Given the description of an element on the screen output the (x, y) to click on. 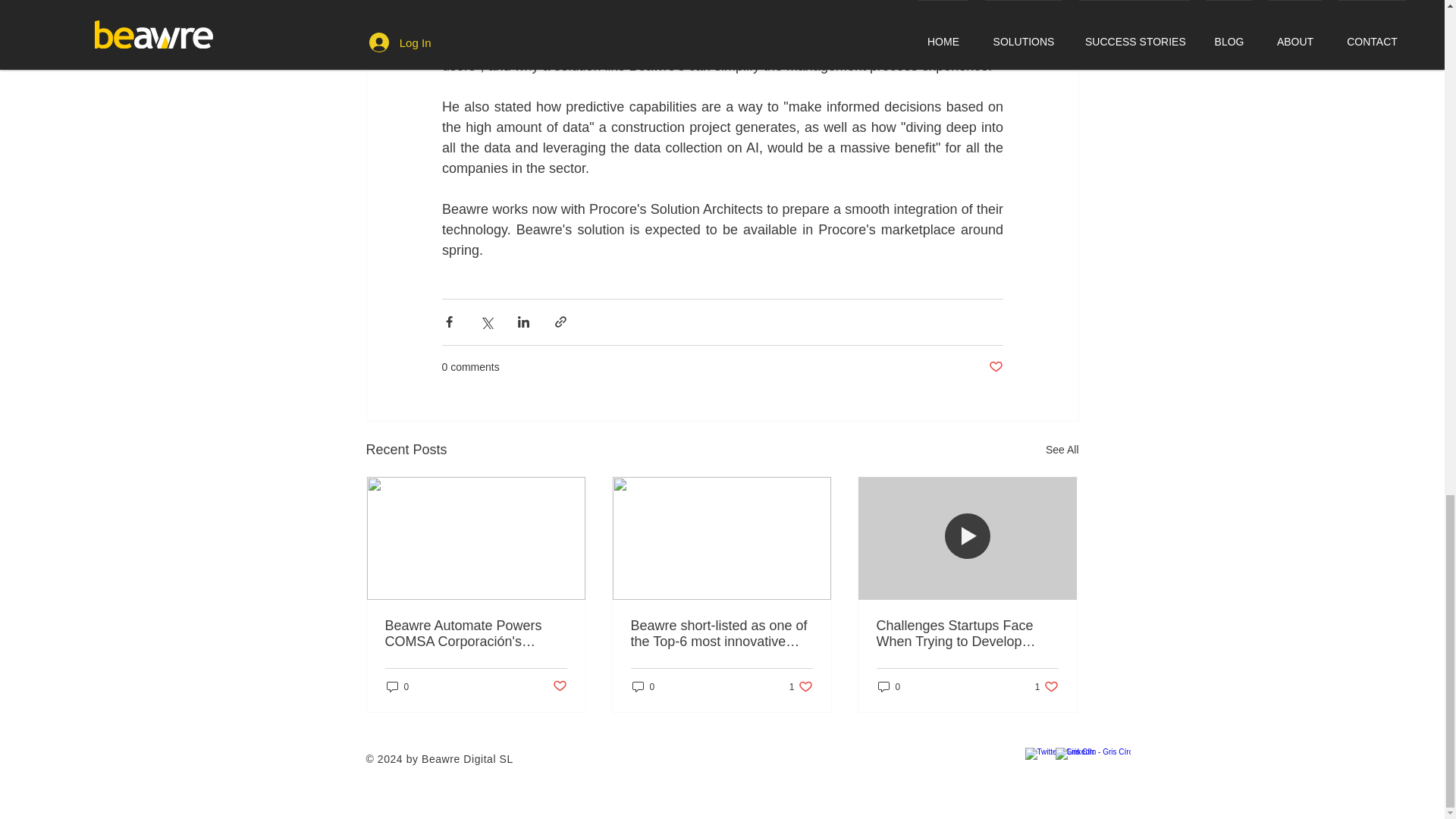
0 (643, 686)
See All (1061, 449)
Post not marked as liked (558, 686)
0 (397, 686)
Post not marked as liked (995, 367)
